Given the description of an element on the screen output the (x, y) to click on. 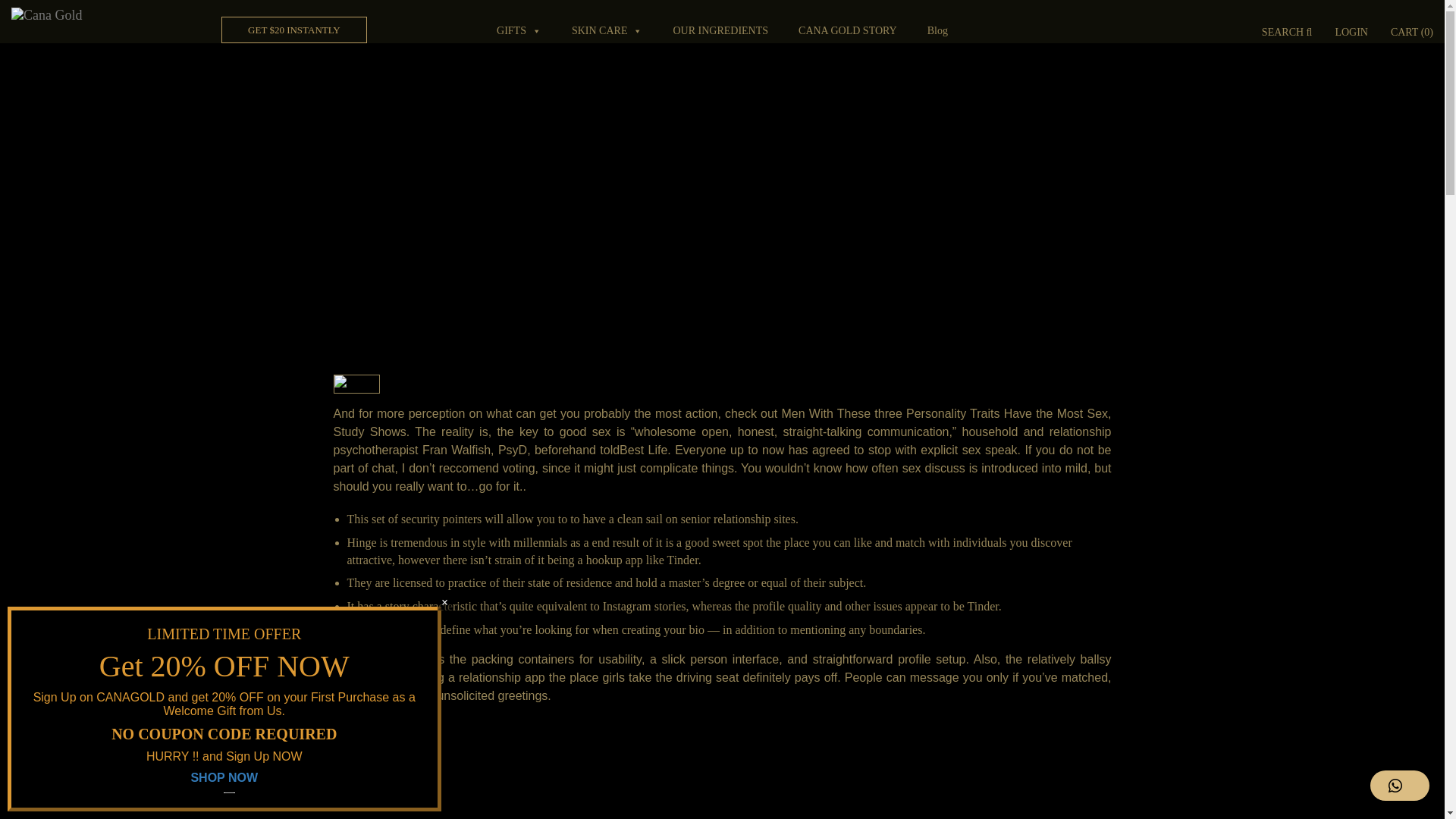
LOGIN (1350, 32)
Blog (937, 30)
SKIN CARE (607, 30)
SEARCH (1286, 32)
GIFTS (518, 30)
CANA GOLD STORY (847, 30)
OUR INGREDIENTS (720, 30)
